Given the description of an element on the screen output the (x, y) to click on. 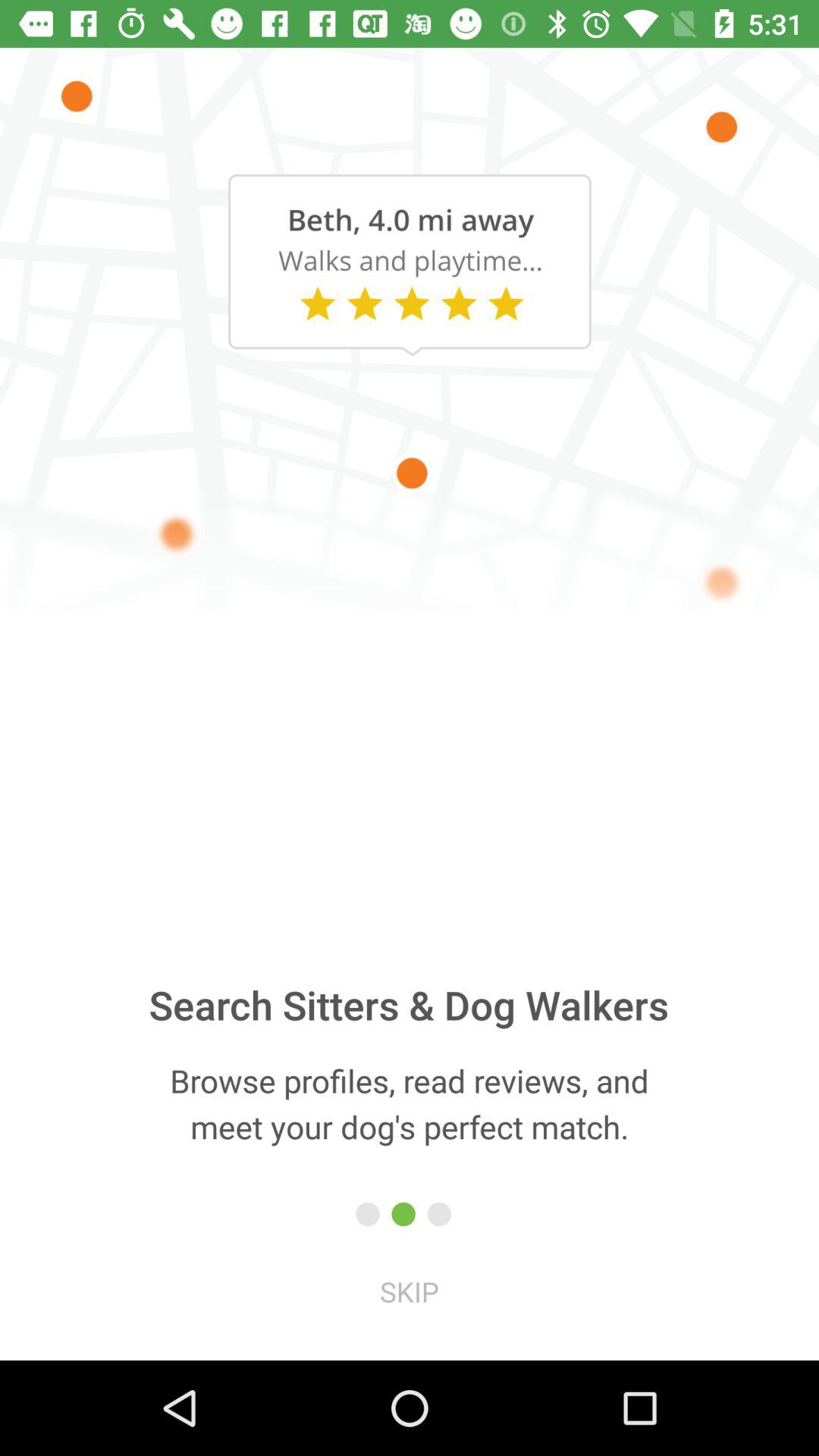
click skip icon (409, 1291)
